Given the description of an element on the screen output the (x, y) to click on. 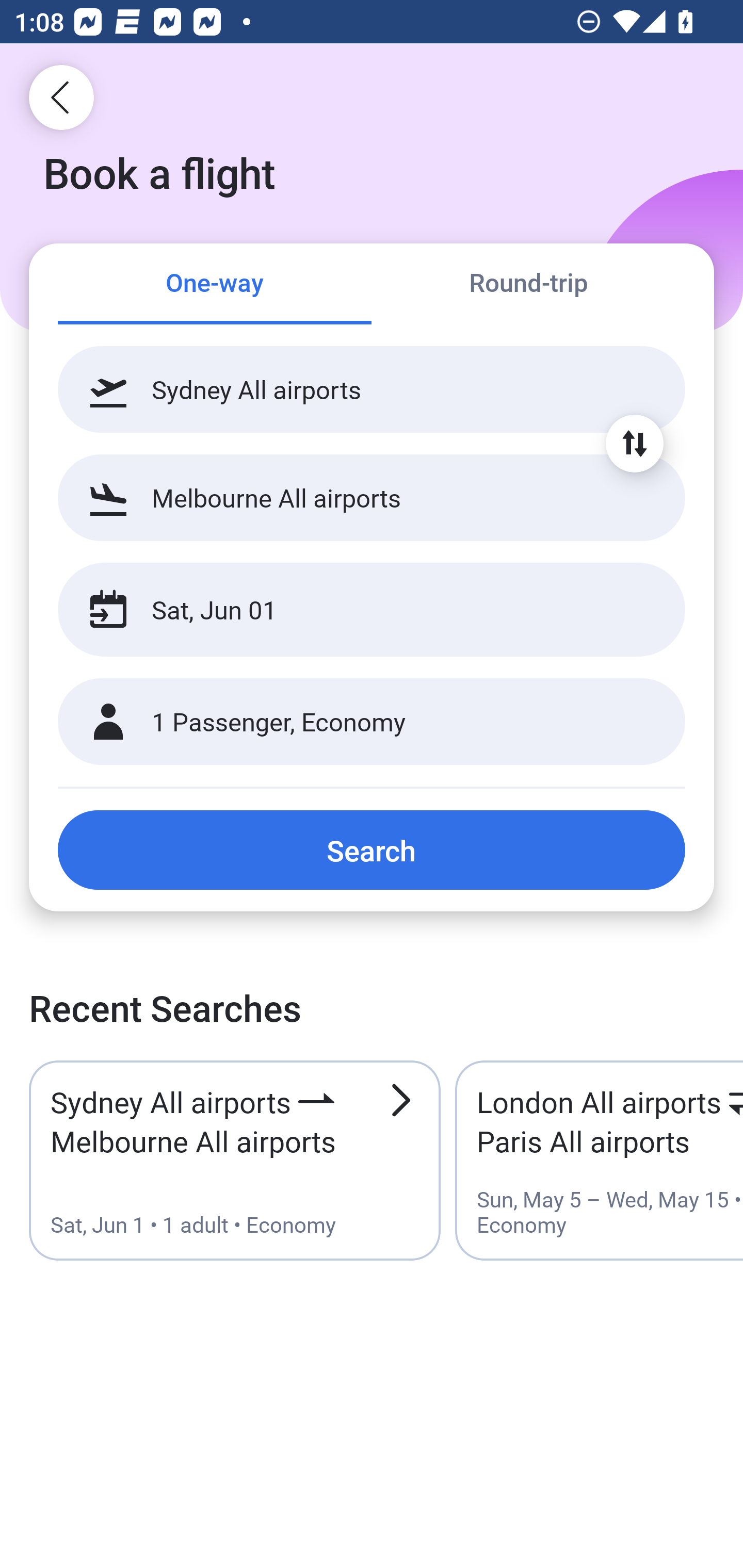
Round-trip (528, 284)
Sydney All airports (371, 389)
Melbourne All airports (371, 497)
Sat, Jun 01 (349, 609)
1 Passenger, Economy (371, 721)
Search (371, 849)
